Given the description of an element on the screen output the (x, y) to click on. 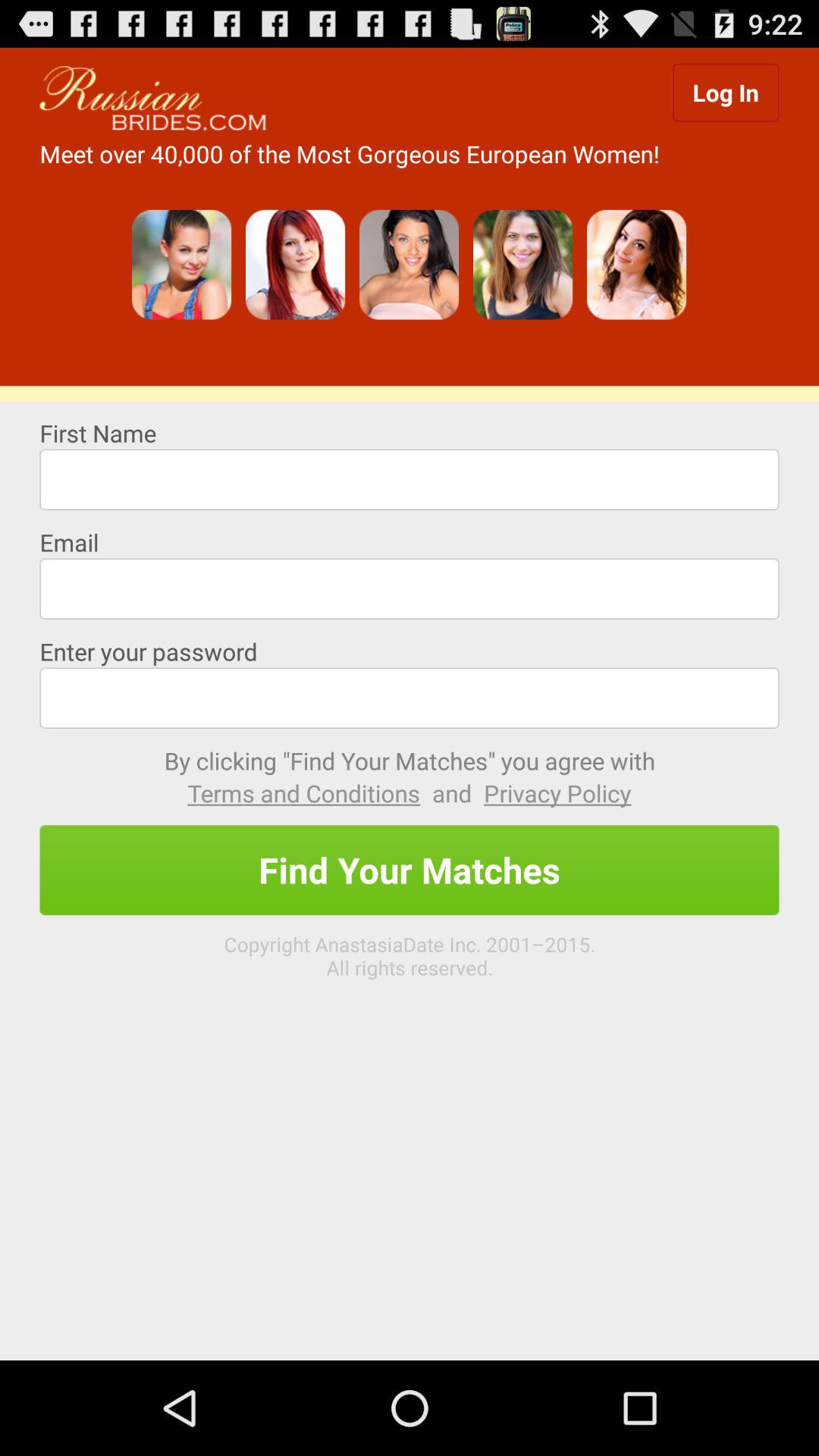
text box (409, 697)
